Given the description of an element on the screen output the (x, y) to click on. 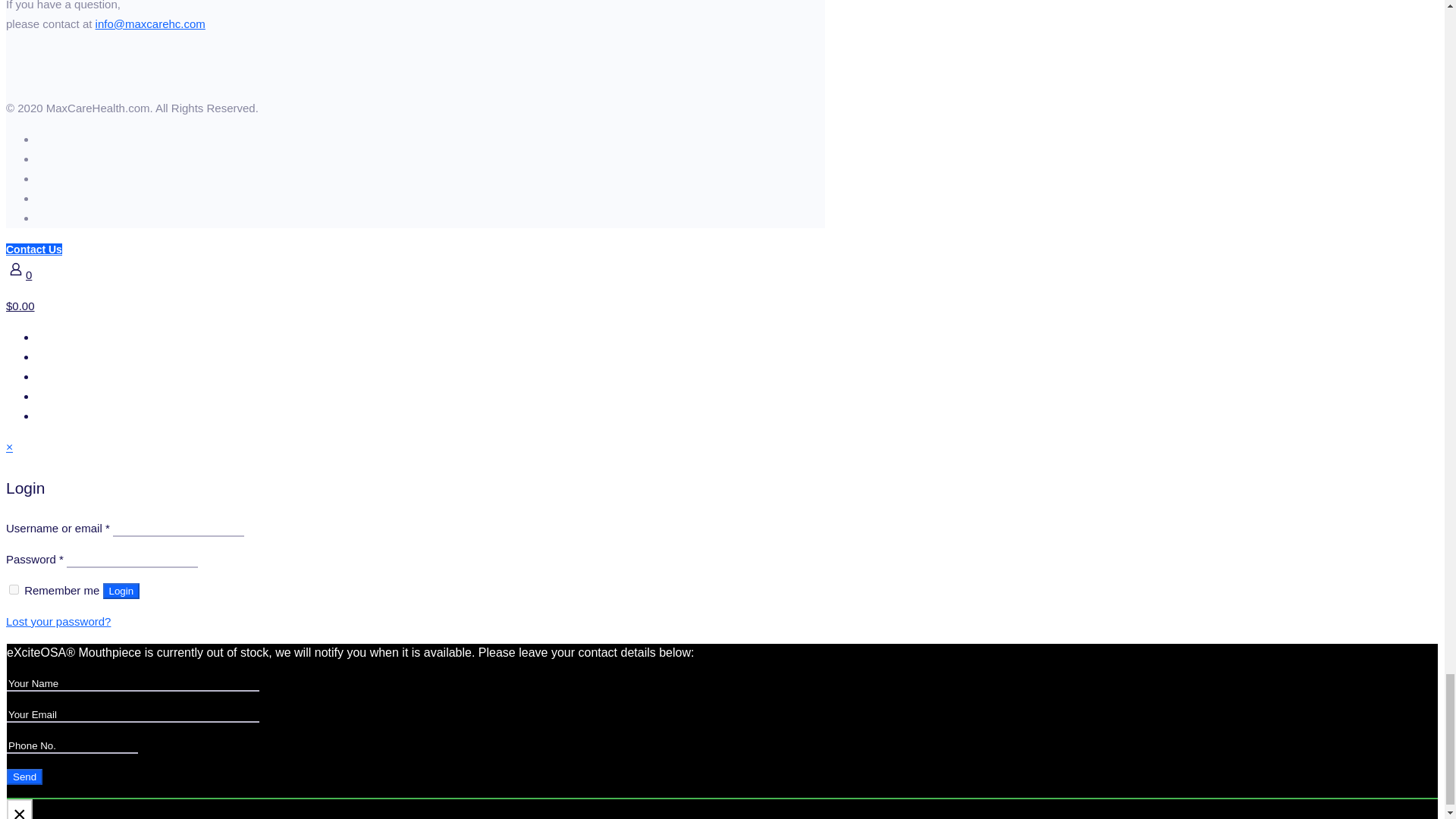
forever (13, 589)
Send (24, 776)
